Given the description of an element on the screen output the (x, y) to click on. 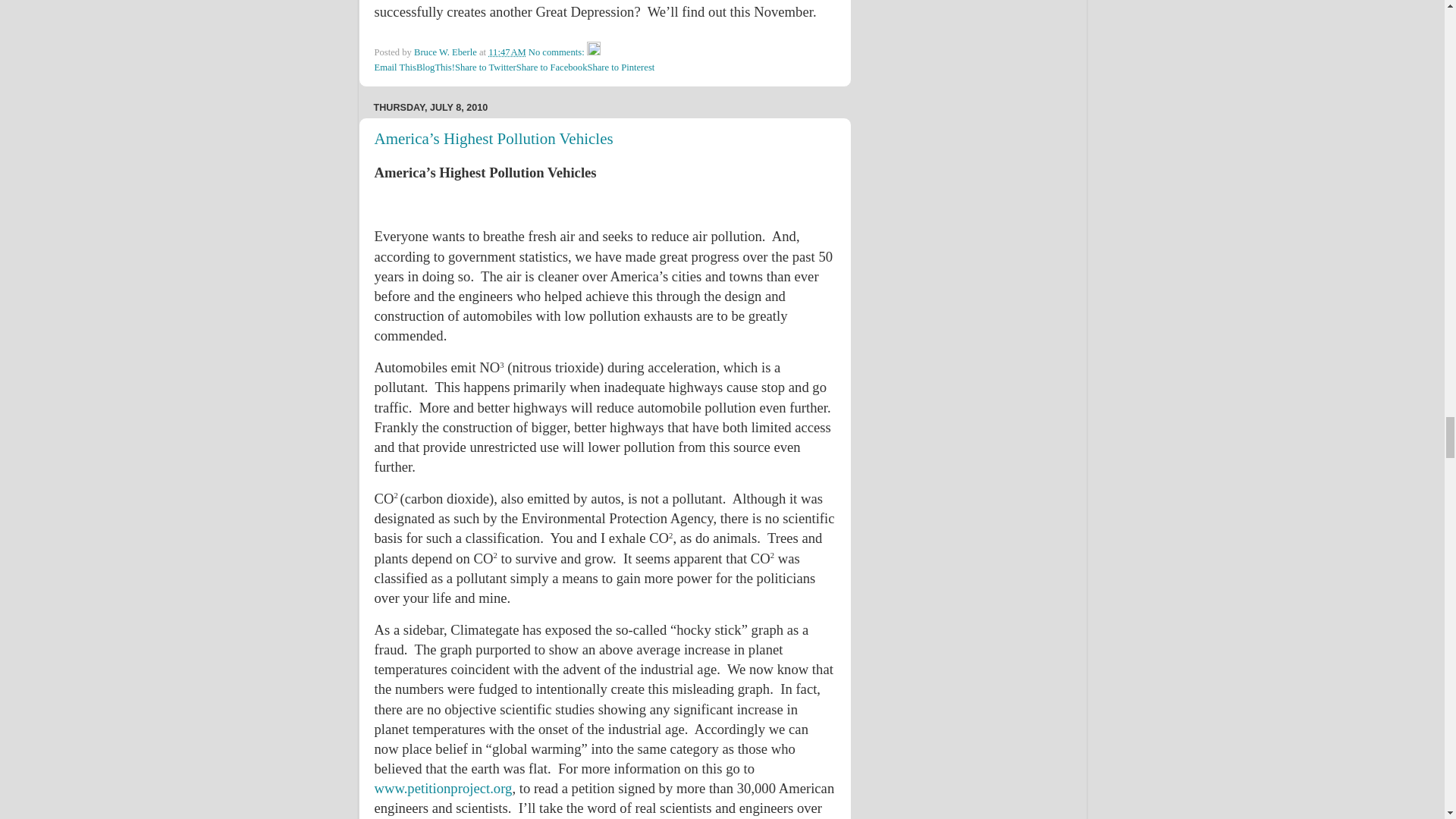
Email This (395, 67)
BlogThis! (435, 67)
Share to Pinterest (619, 67)
No comments: (557, 51)
Share to Facebook (552, 67)
Share to Twitter (485, 67)
Bruce W. Eberle (446, 51)
www.petitionproject.org (443, 788)
